Given the description of an element on the screen output the (x, y) to click on. 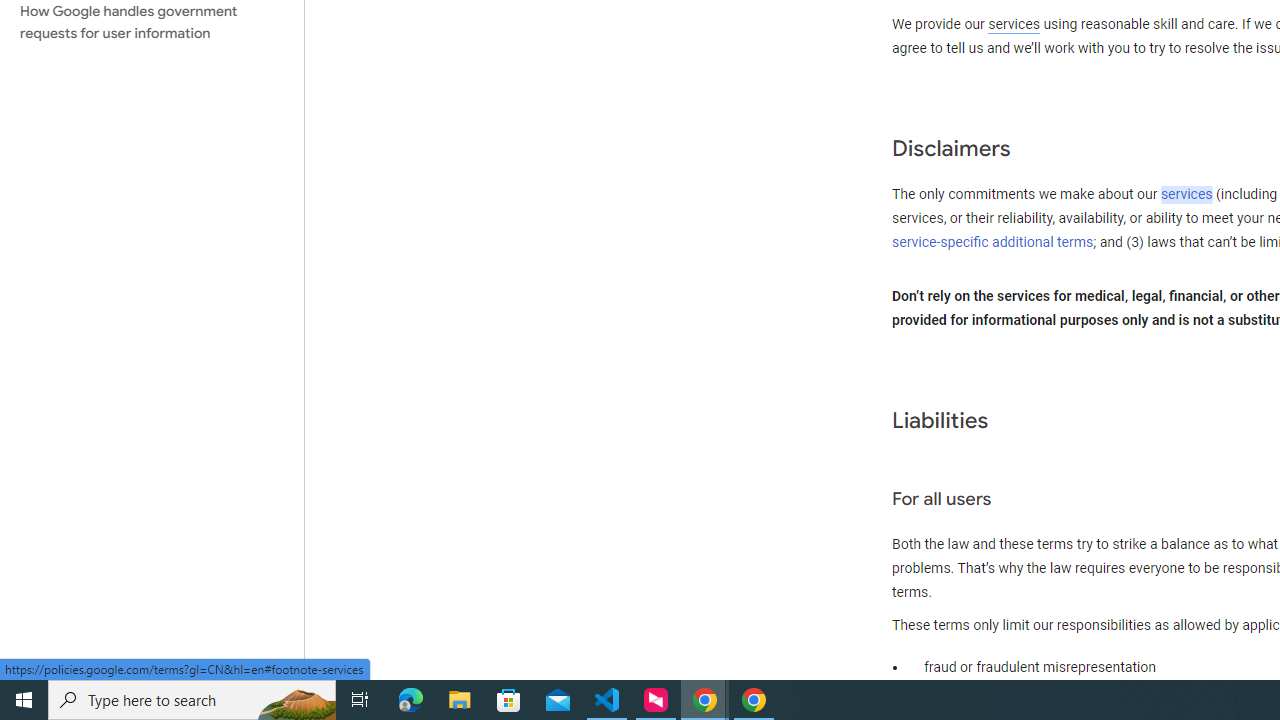
services (1186, 195)
service-specific additional terms (993, 242)
